Given the description of an element on the screen output the (x, y) to click on. 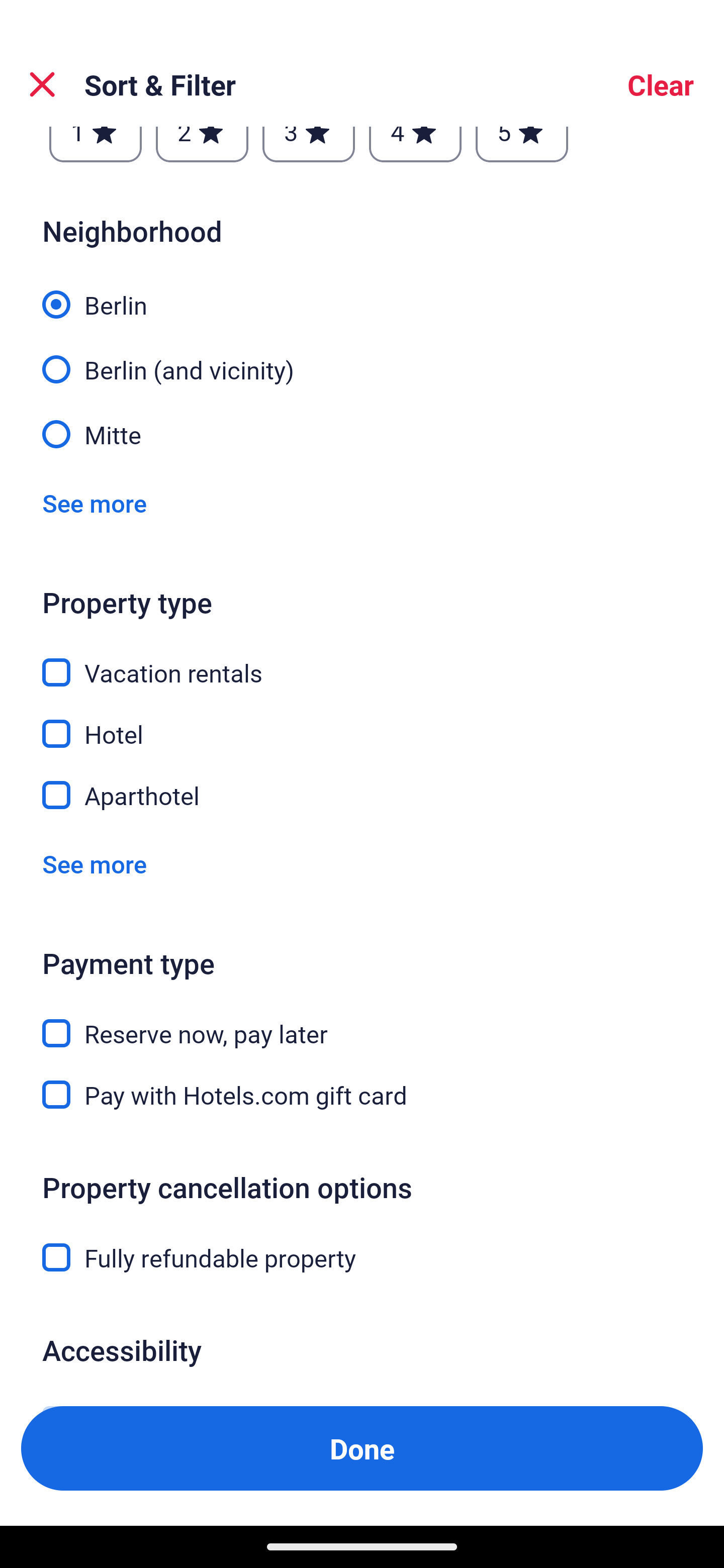
Close Sort and Filter (42, 84)
Clear (660, 84)
Berlin (and vicinity) (361, 358)
Mitte (361, 432)
See more See more neighborhoods Link (93, 502)
Vacation rentals, Vacation rentals (361, 660)
Hotel, Hotel (361, 721)
Aparthotel, Aparthotel (361, 794)
See more See more property types Link (93, 863)
Reserve now, pay later, Reserve now, pay later (361, 1021)
Apply and close Sort and Filter Done (361, 1448)
